Given the description of an element on the screen output the (x, y) to click on. 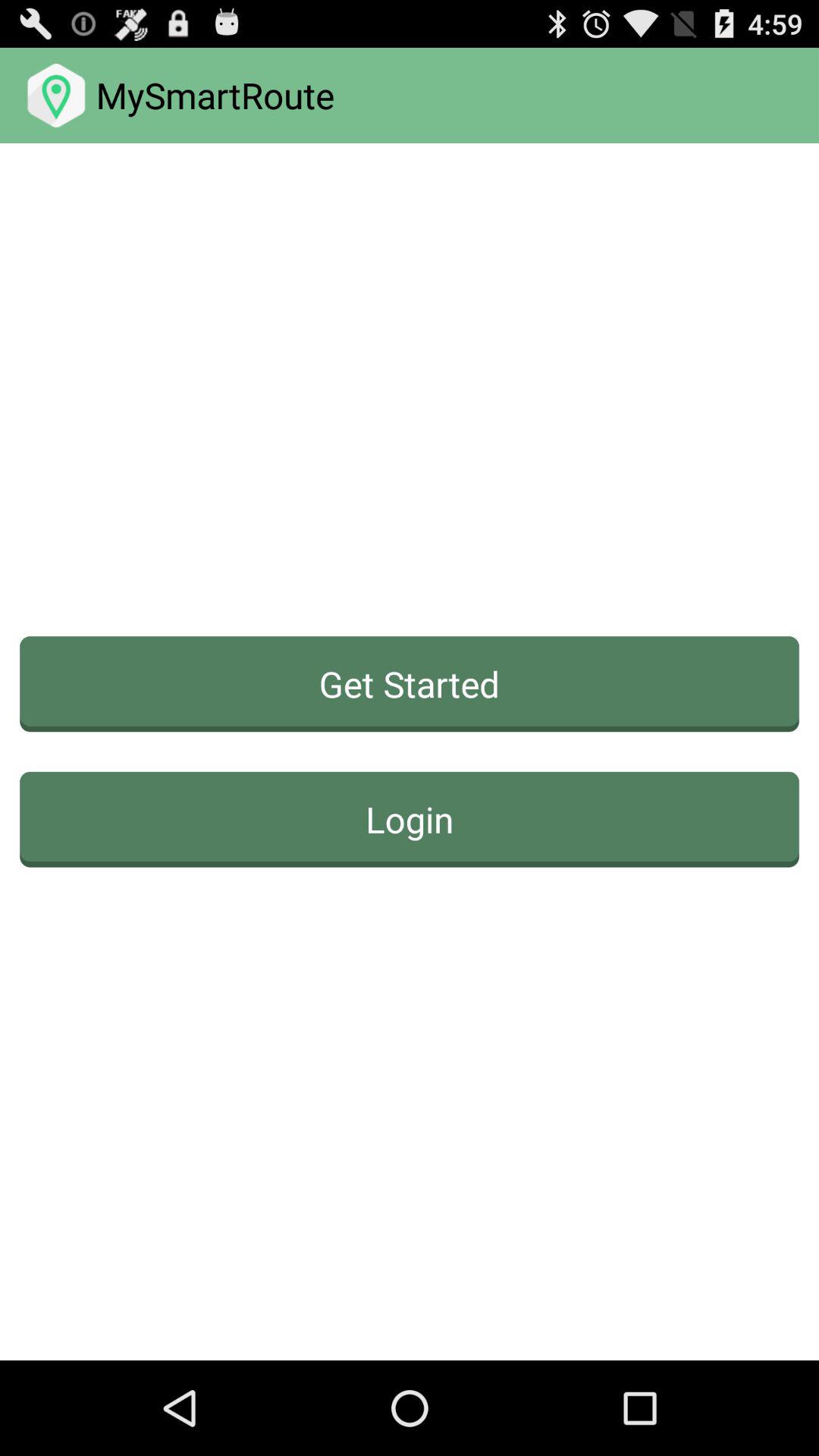
open the button below the get started item (409, 819)
